Given the description of an element on the screen output the (x, y) to click on. 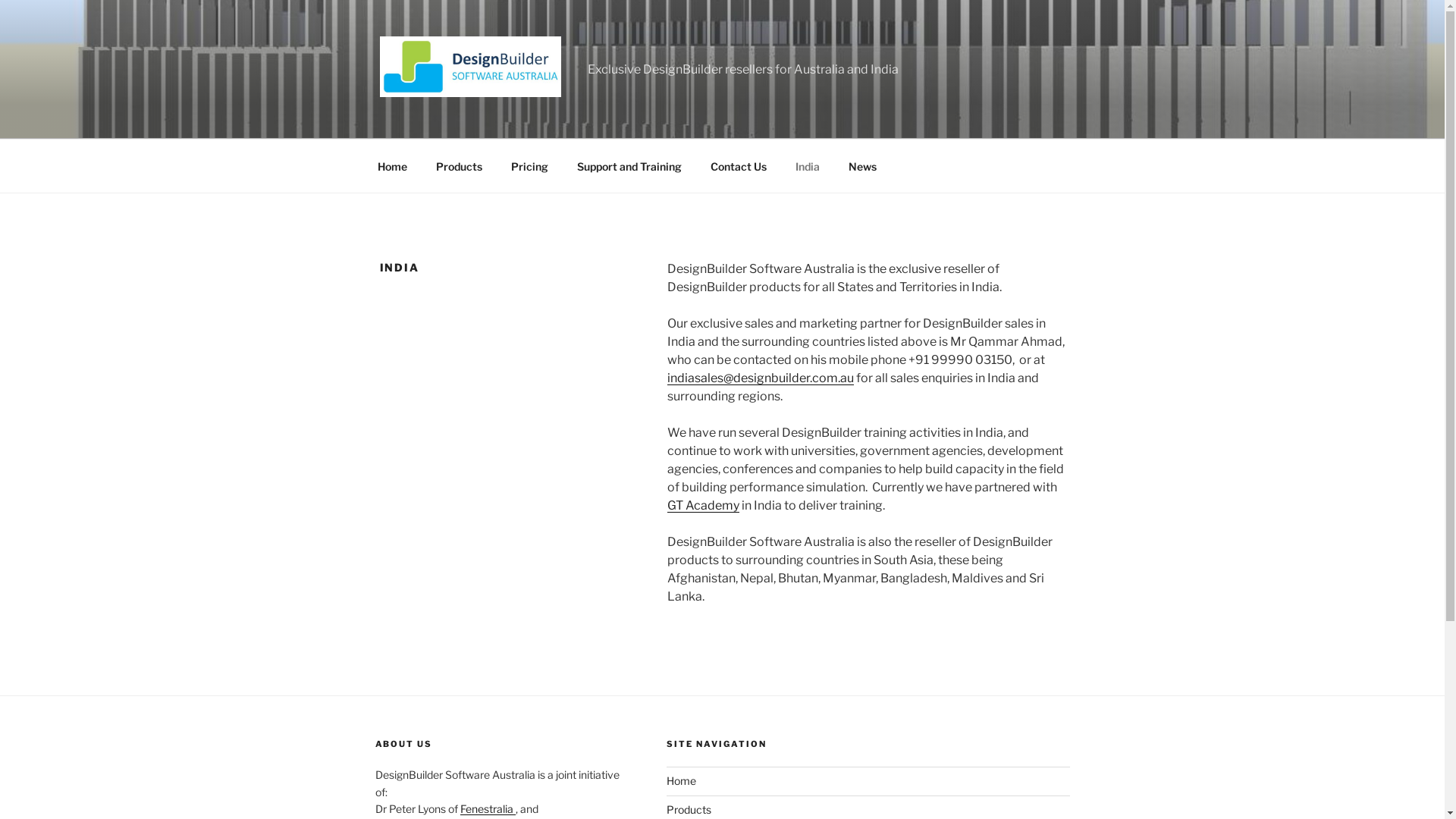
Products Element type: text (459, 165)
Products Element type: text (688, 809)
GT Academy Element type: text (703, 505)
News Element type: text (862, 165)
Support and Training Element type: text (629, 165)
India Element type: text (807, 165)
Contact Us Element type: text (738, 165)
Home Element type: text (681, 780)
indiasales@designbuilder.com.au Element type: text (760, 377)
Home Element type: text (392, 165)
Fenestralia Element type: text (486, 808)
Pricing Element type: text (529, 165)
SITE NAVIGATION Element type: text (867, 743)
